Given the description of an element on the screen output the (x, y) to click on. 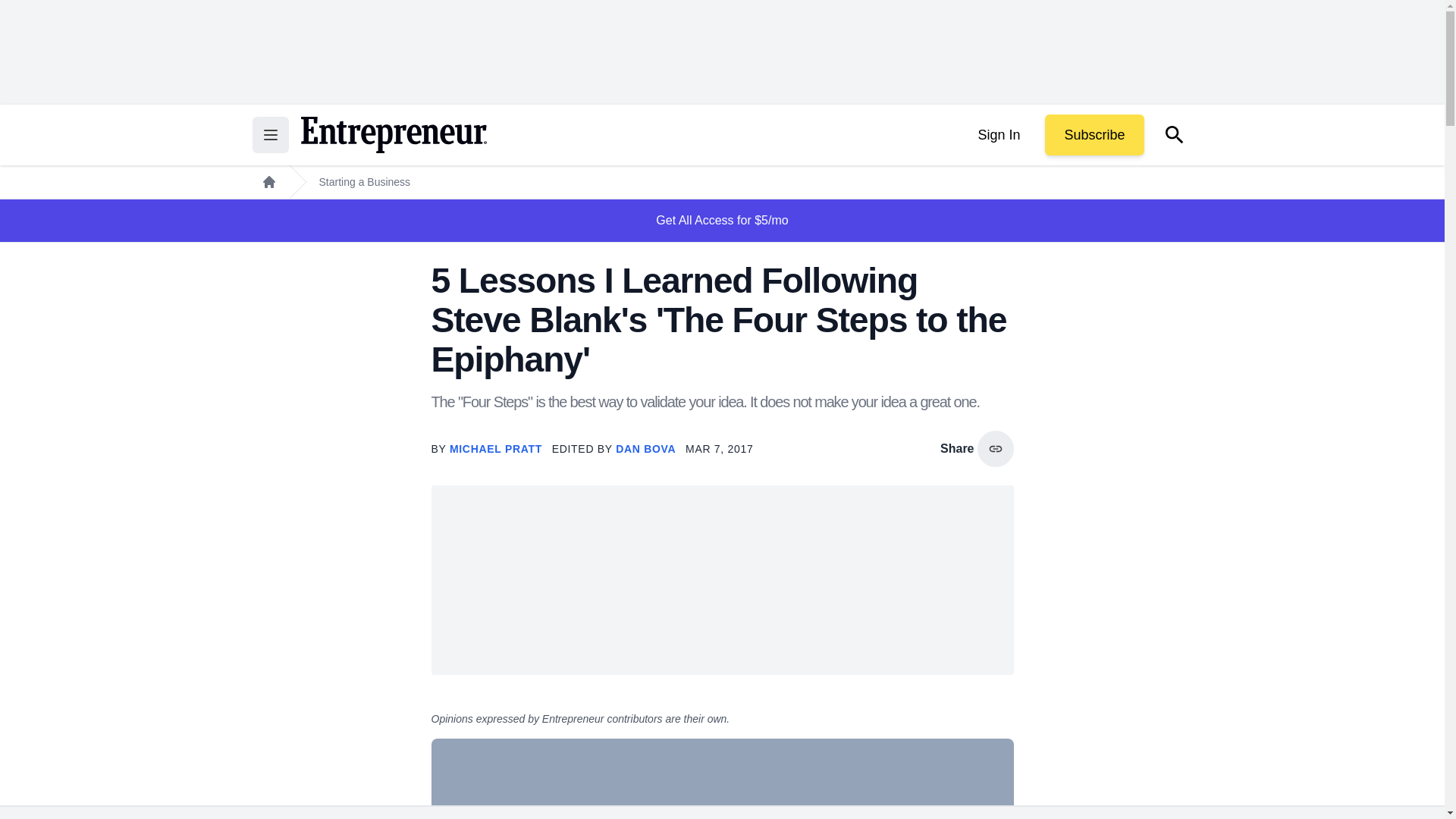
Subscribe (1093, 134)
Sign In (998, 134)
copy (994, 448)
Return to the home page (392, 135)
